Given the description of an element on the screen output the (x, y) to click on. 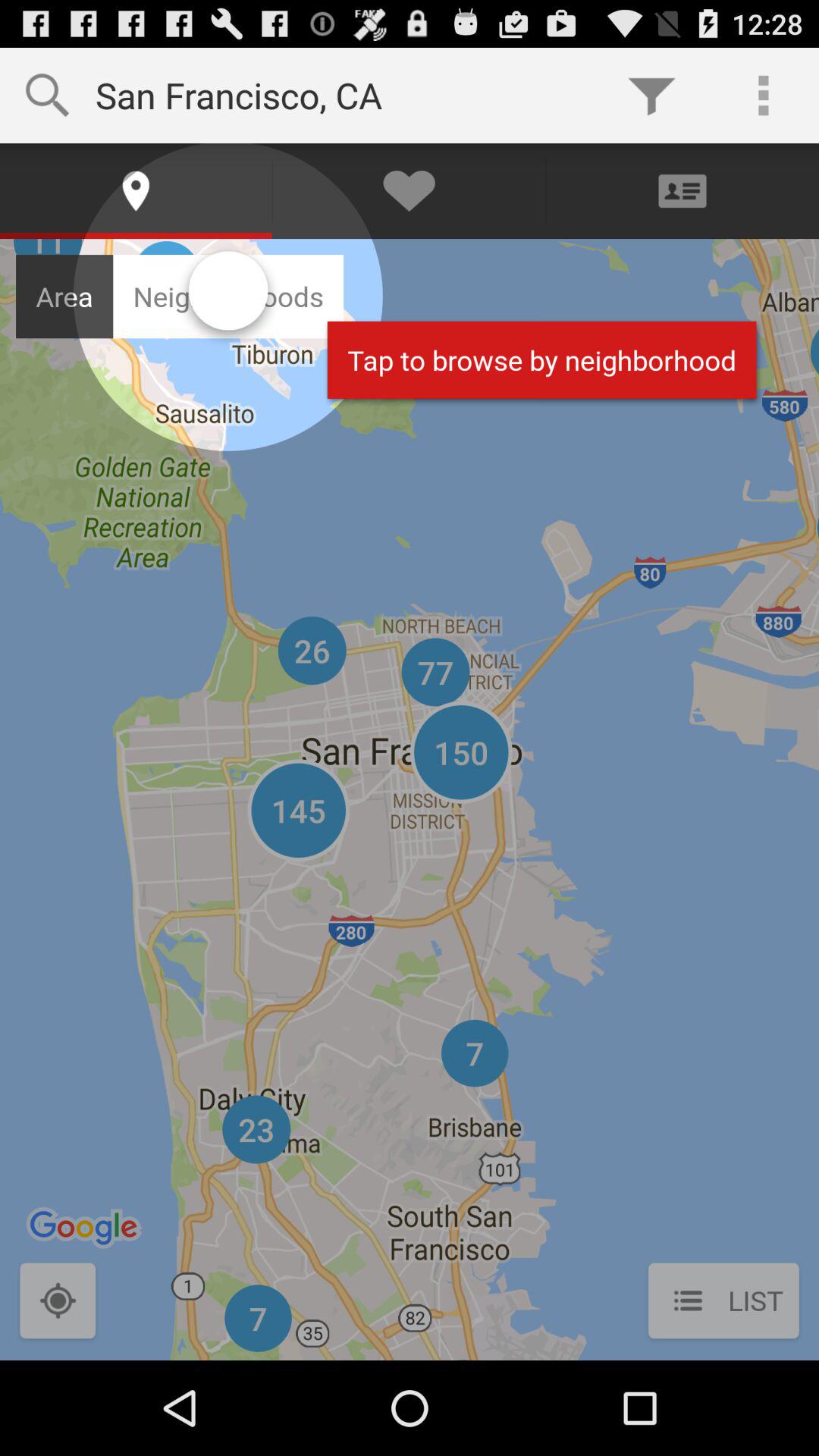
click for current location (57, 1302)
